Given the description of an element on the screen output the (x, y) to click on. 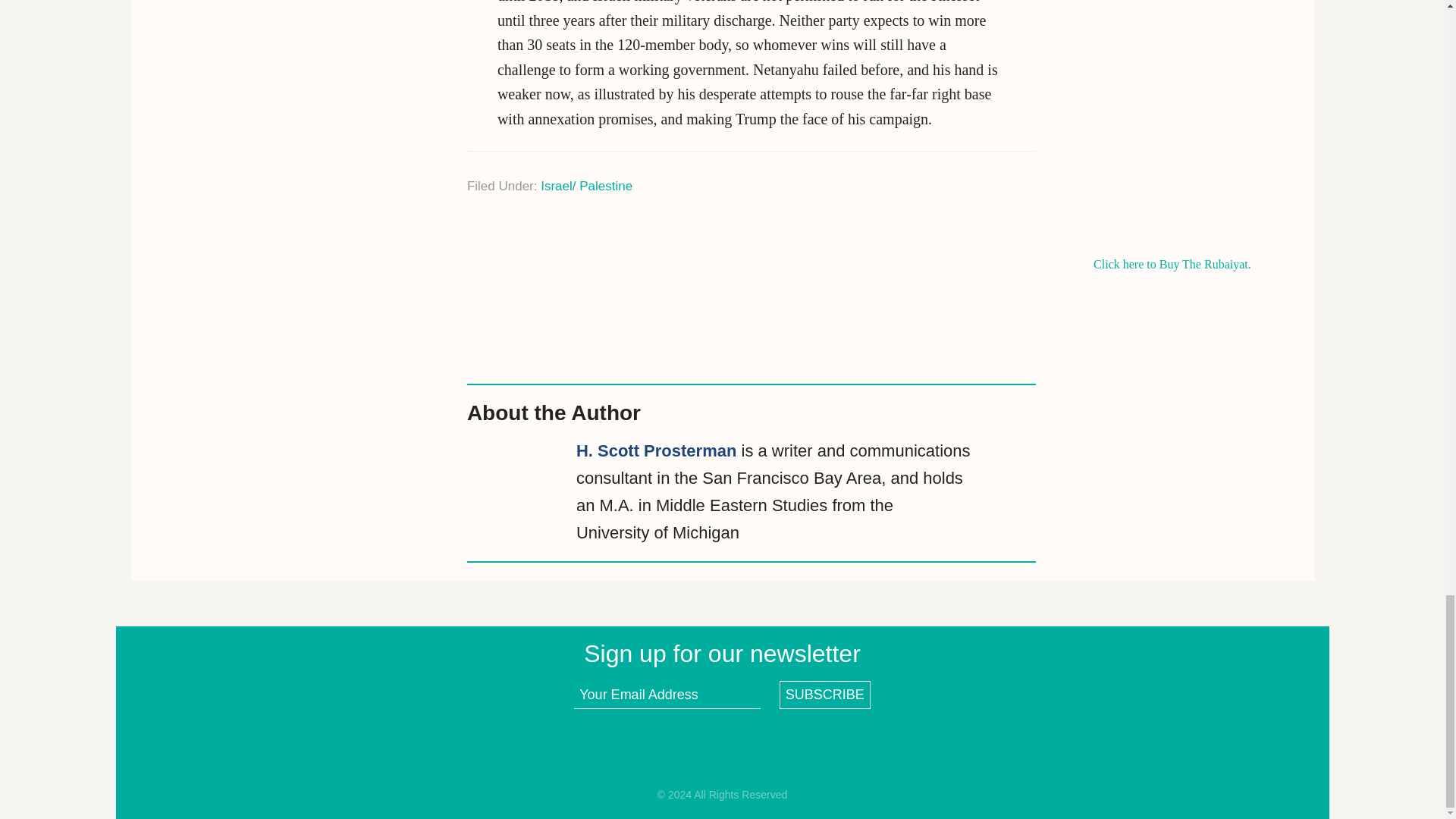
subscribe (824, 694)
H. Scott Prosterman (656, 450)
